Given the description of an element on the screen output the (x, y) to click on. 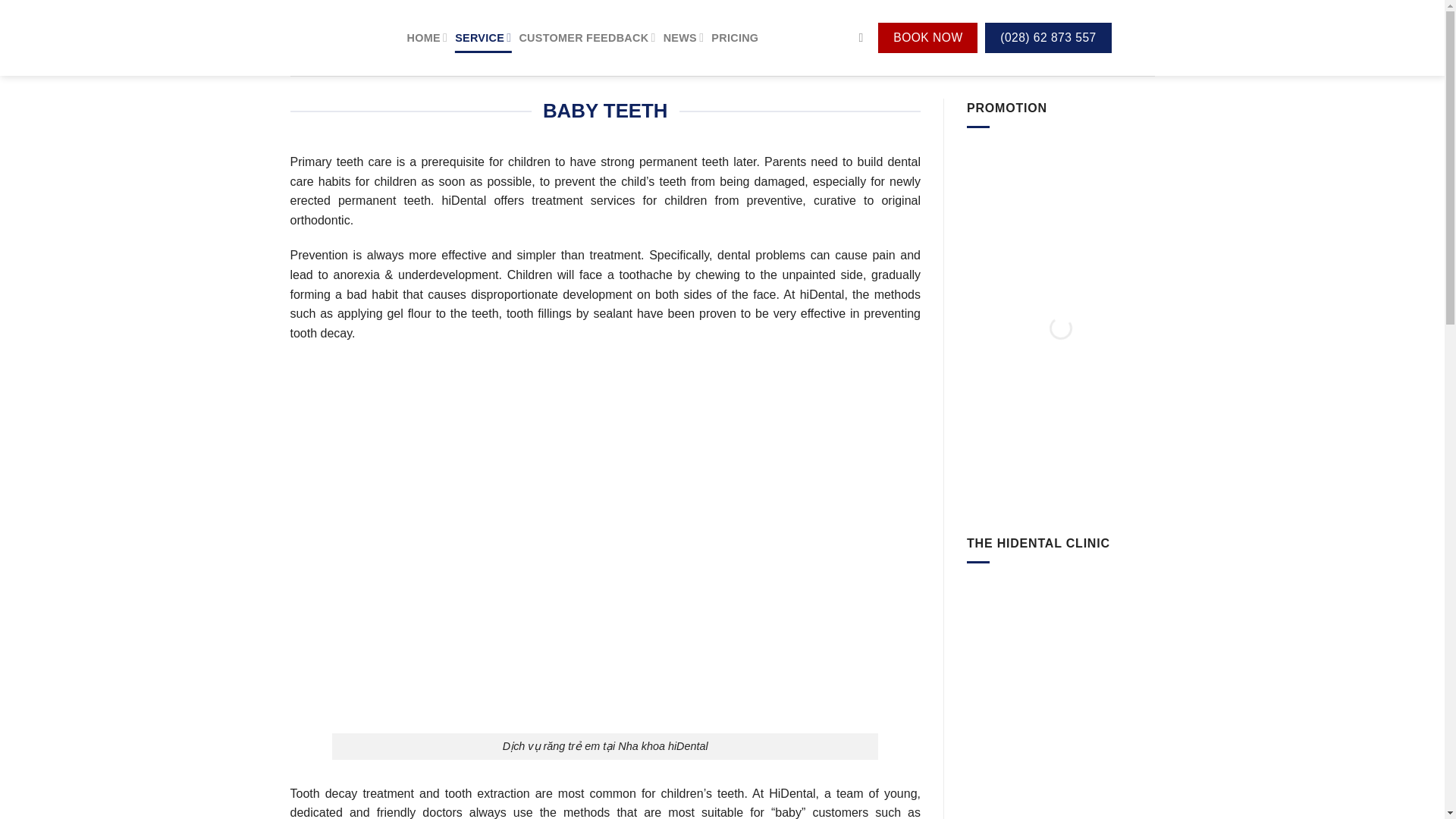
NEWS (683, 37)
HOME (426, 37)
SERVICE (482, 37)
PRICING (734, 37)
CUSTOMER FEEDBACK (586, 37)
